Given the description of an element on the screen output the (x, y) to click on. 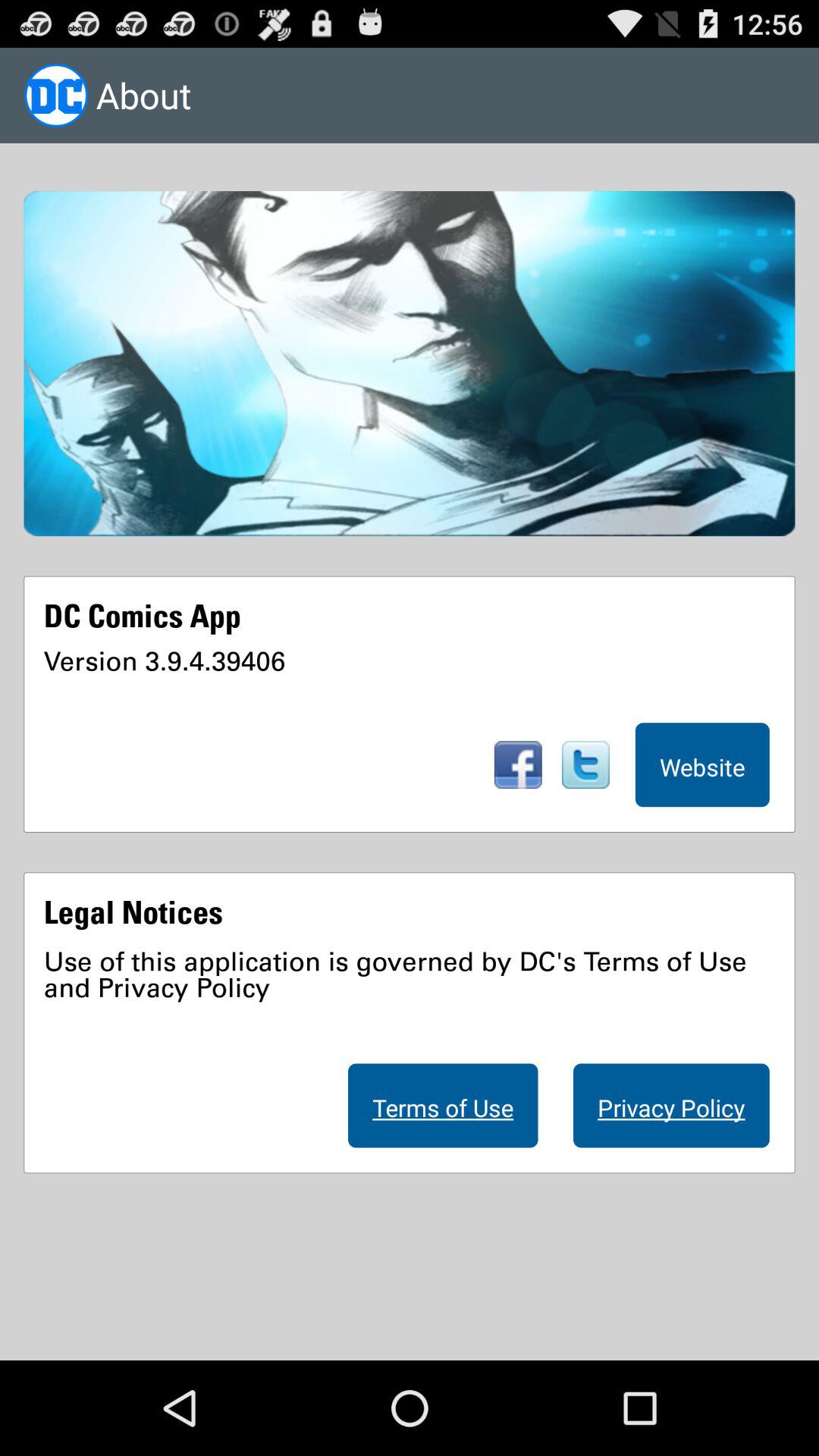
press the icon above the legal notices item (702, 764)
